Given the description of an element on the screen output the (x, y) to click on. 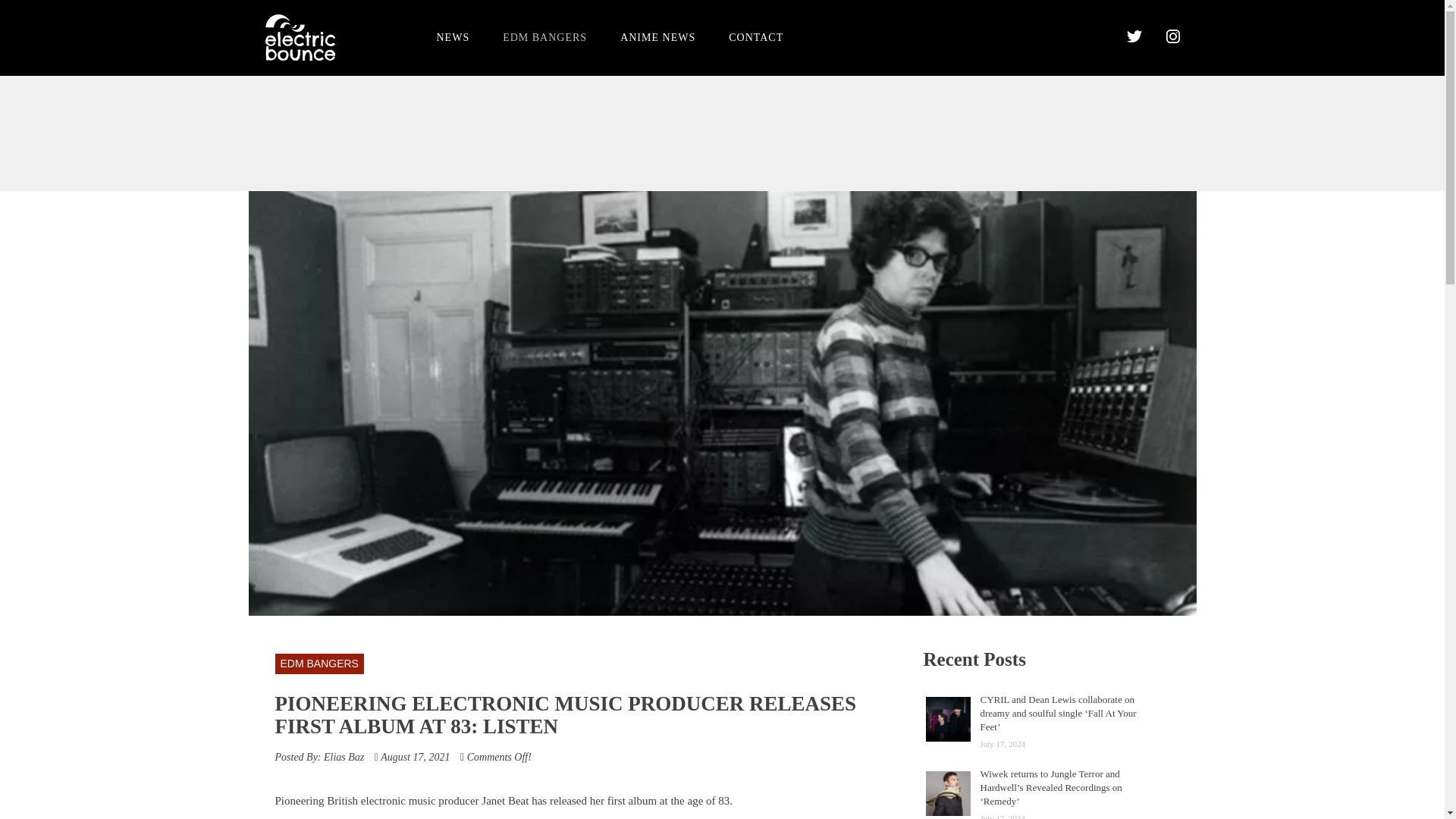
CONTACT (755, 36)
August 17, 2021 (414, 756)
NEWS (453, 36)
ANIME NEWS (657, 36)
Advertisement (721, 132)
Elias Baz (343, 756)
EDM BANGERS (318, 663)
EDM BANGERS (545, 36)
